Given the description of an element on the screen output the (x, y) to click on. 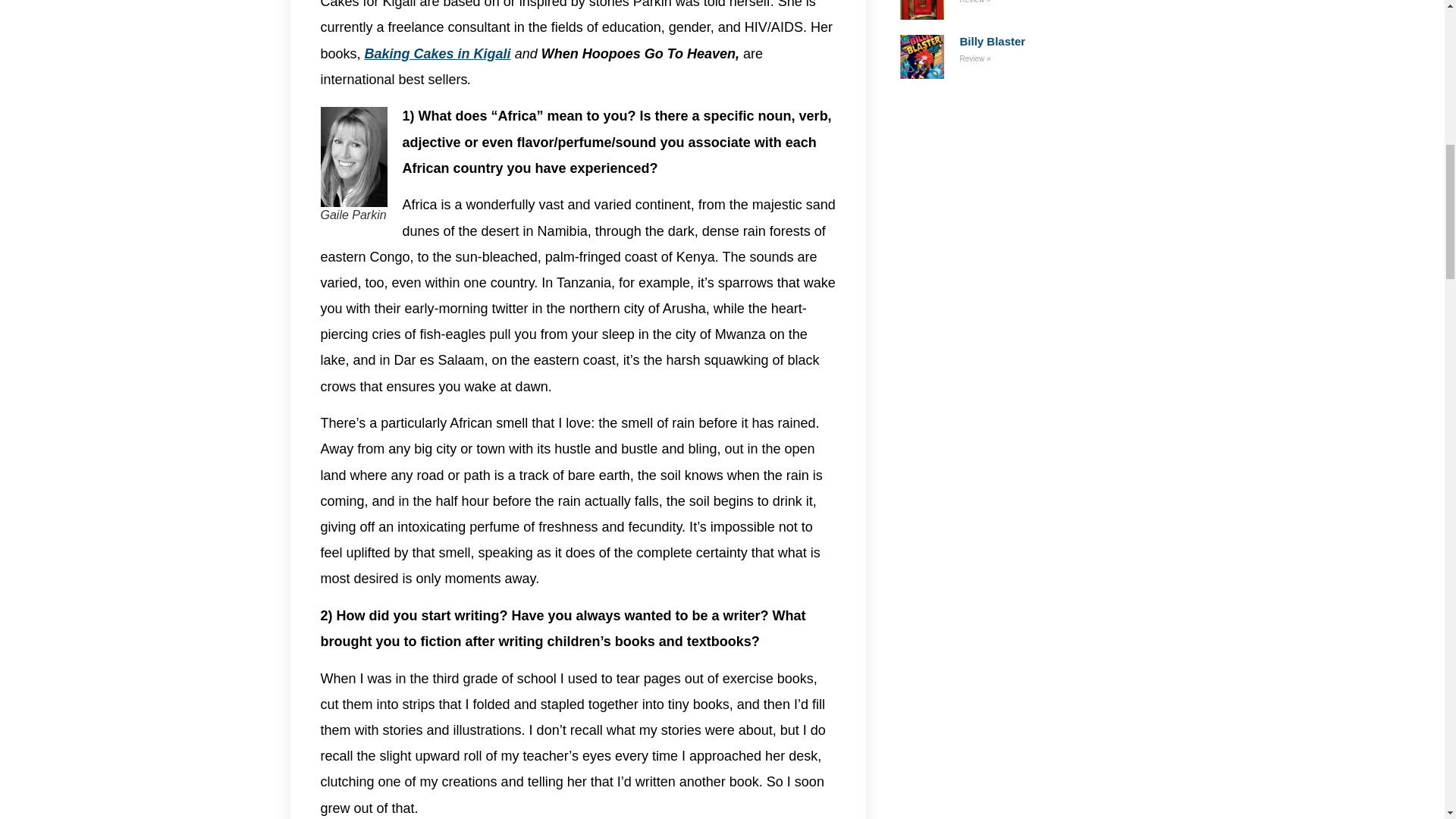
Baking Cakes in Kigali (438, 53)
GAILE PARKIN (353, 157)
